Given the description of an element on the screen output the (x, y) to click on. 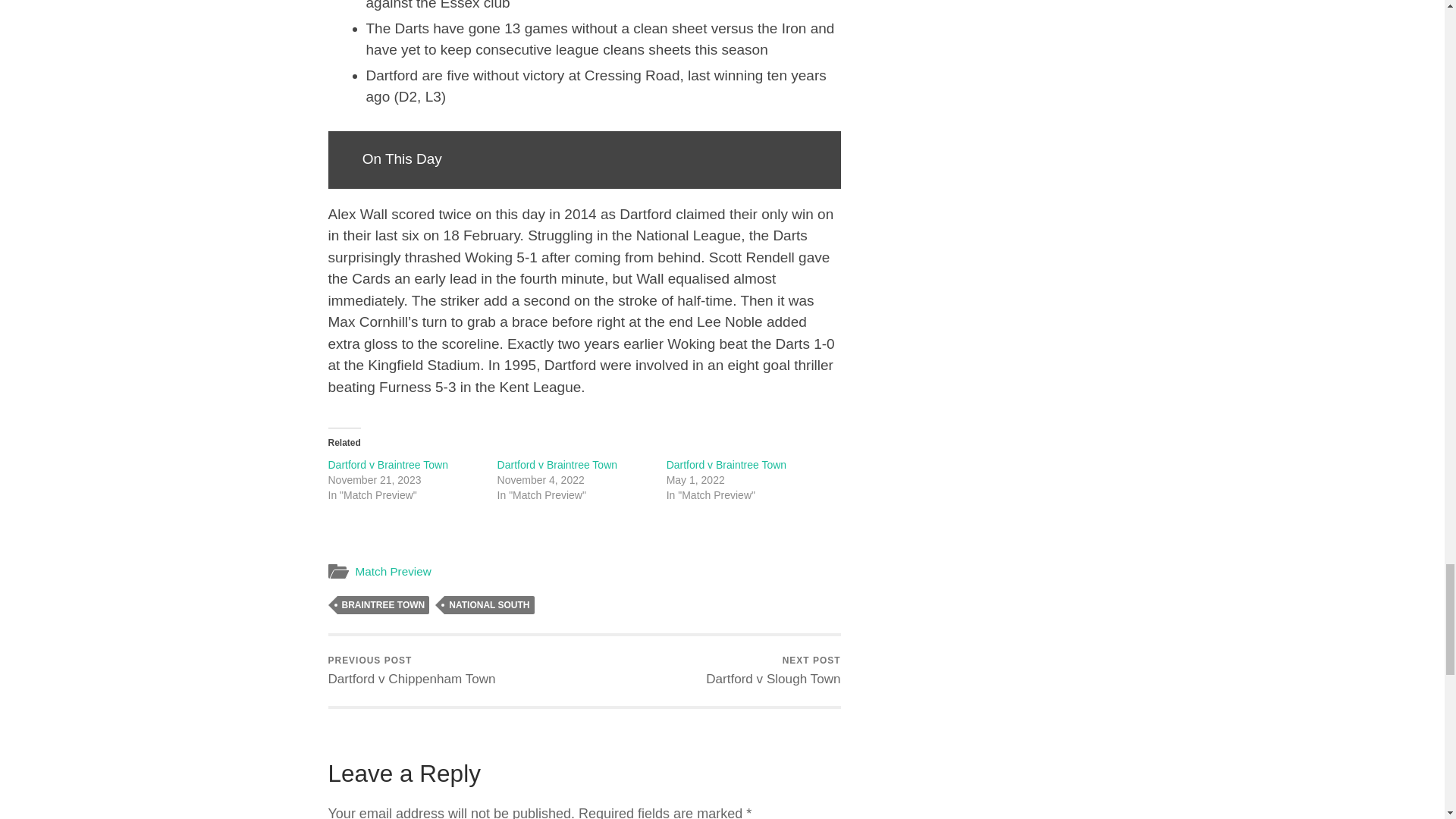
Dartford v Braintree Town (386, 464)
Dartford v Braintree Town (726, 464)
Dartford v Braintree Town (557, 464)
